Given the description of an element on the screen output the (x, y) to click on. 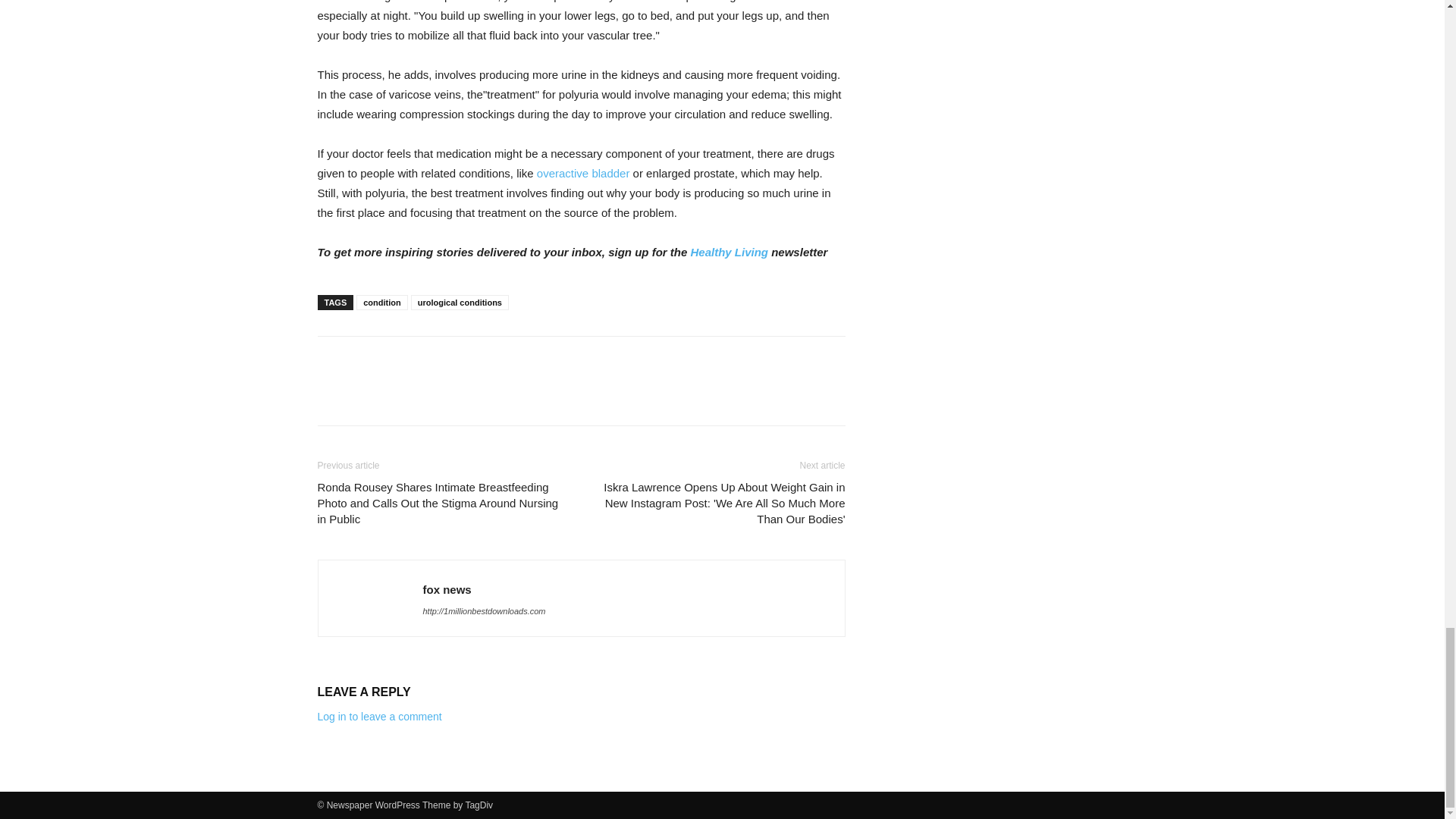
bottomFacebookLike (430, 360)
